Given the description of an element on the screen output the (x, y) to click on. 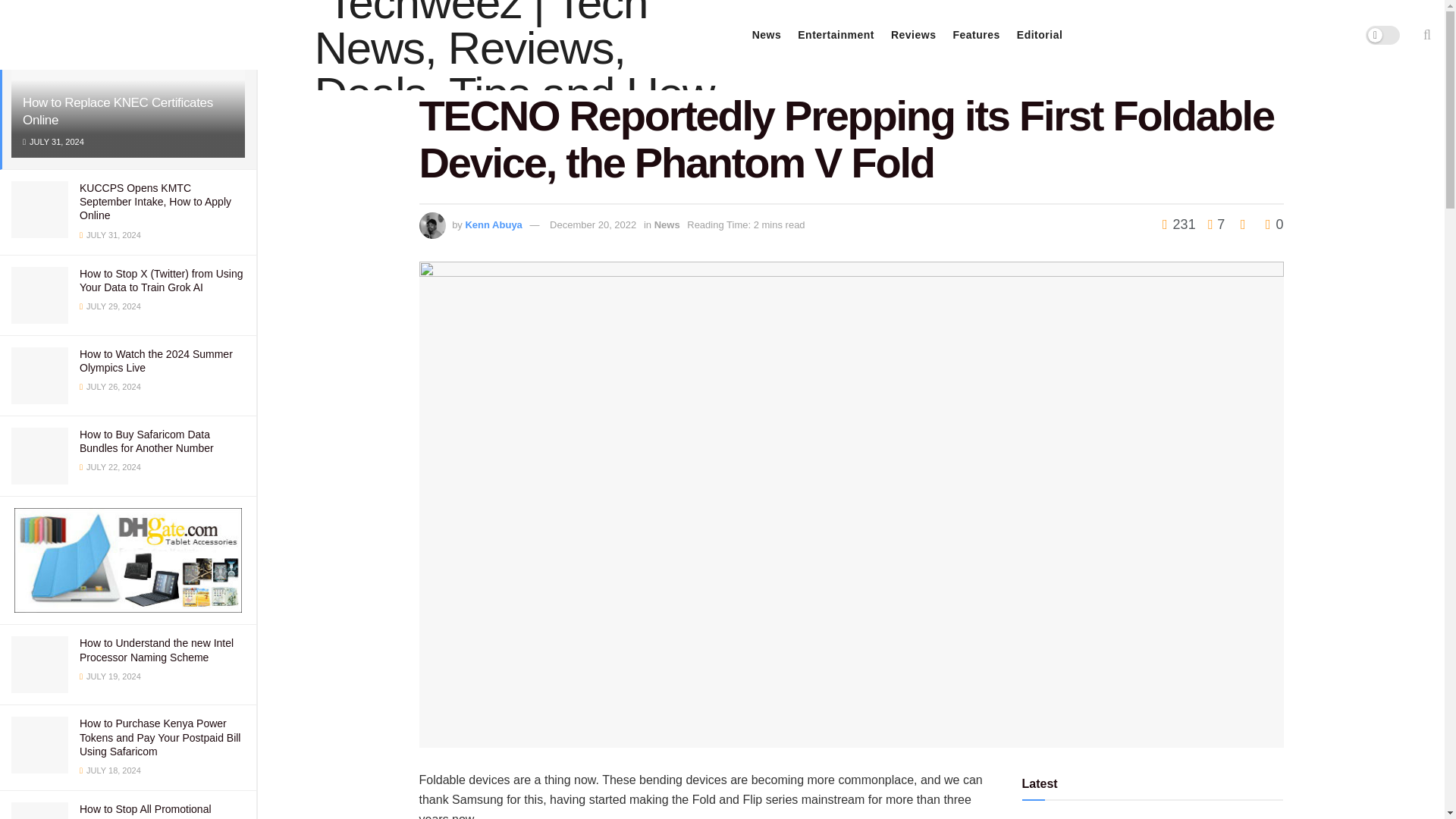
KUCCPS Opens KMTC September Intake, How to Apply Online (155, 201)
Editorial (1039, 34)
How to Buy Safaricom Data Bundles for Another Number (147, 441)
News (766, 34)
How to Watch the 2024 Summer Olympics Live (156, 360)
Reviews (913, 34)
How to Replace KNEC Certificates Online (117, 111)
Entertainment (836, 34)
How to Stop All Promotional Messages on Your Safaricom Line (160, 811)
How to Understand the new Intel Processor Naming Scheme (156, 649)
Features (975, 34)
DHgate Tablet Cases deals (127, 559)
